Given the description of an element on the screen output the (x, y) to click on. 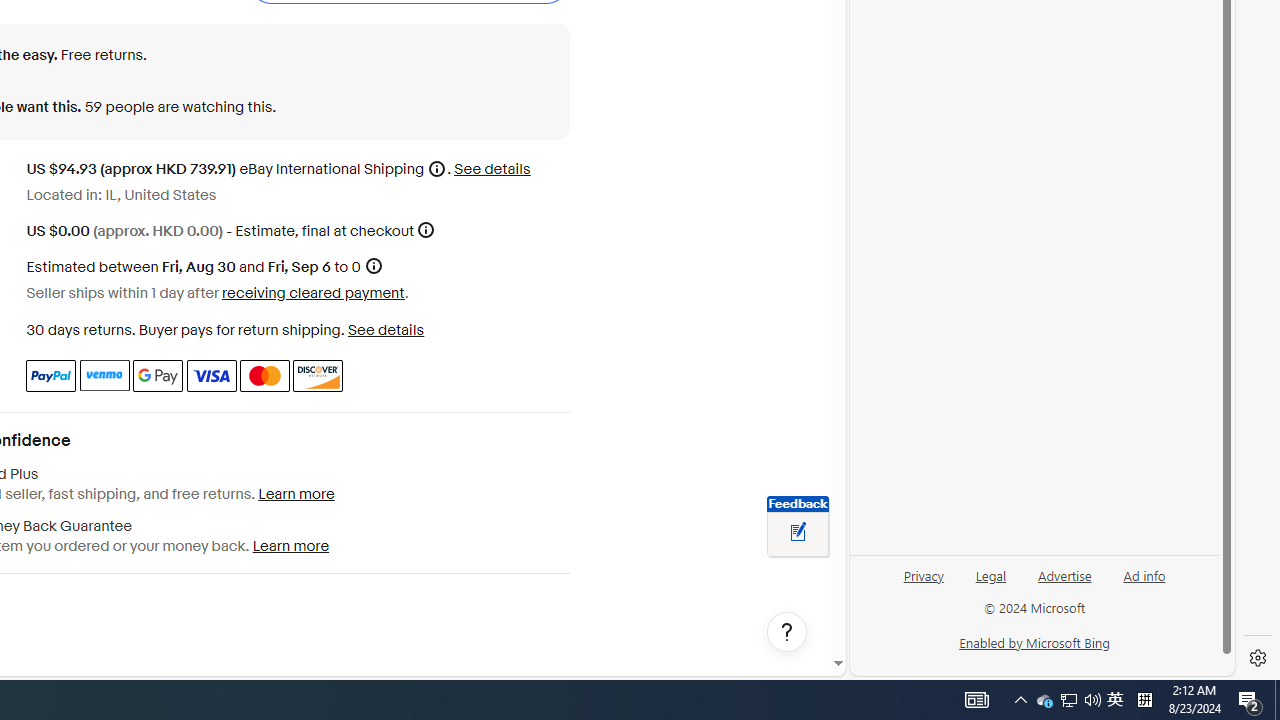
PayPal (50, 375)
More information (426, 230)
See details - for more information about returns (385, 330)
receiving cleared payment (312, 292)
Venmo (104, 375)
Google Pay (158, 375)
Leave feedback about your eBay ViewItem experience (797, 533)
